Given the description of an element on the screen output the (x, y) to click on. 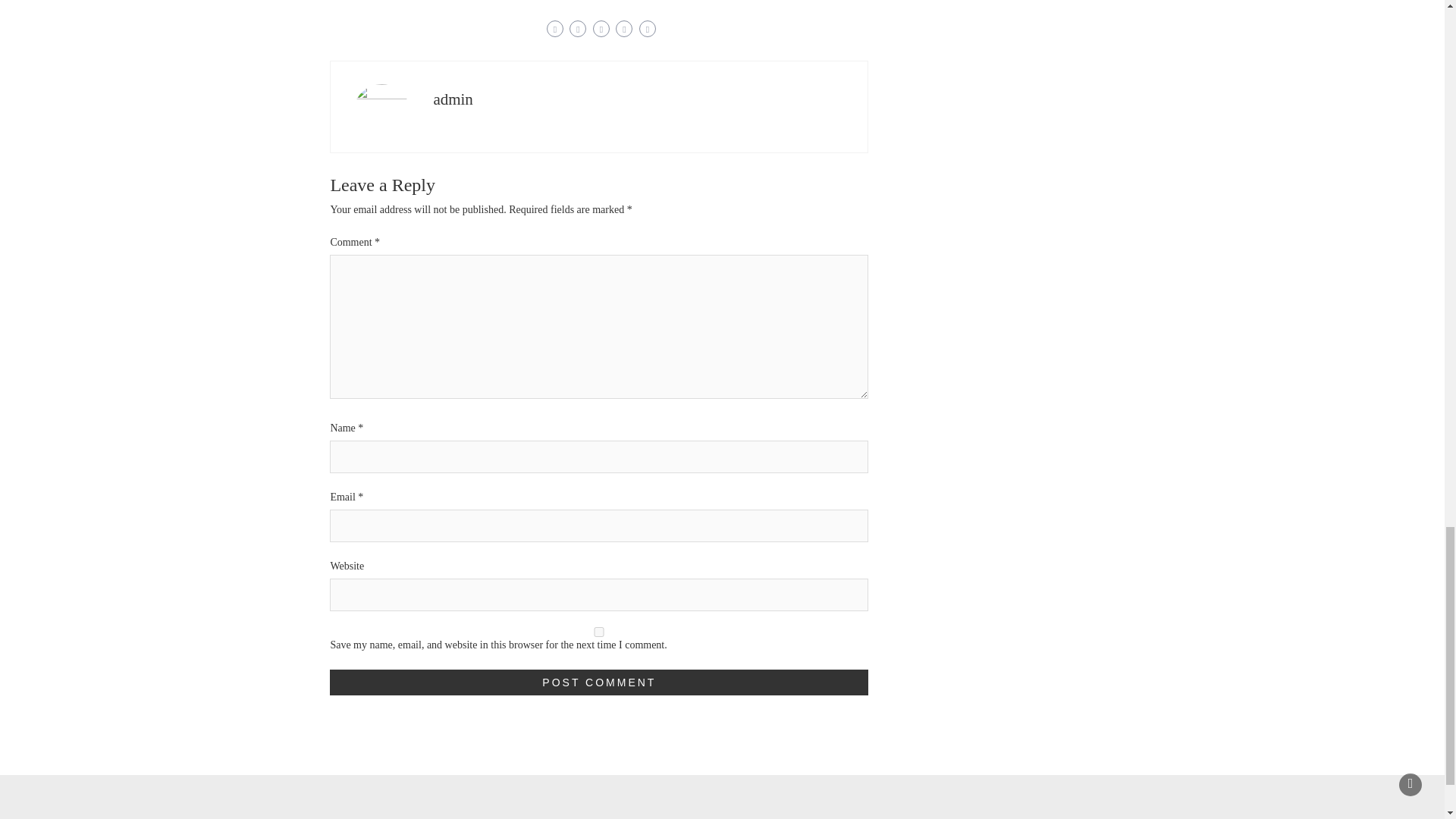
Post Comment (598, 681)
admin (452, 98)
yes (598, 631)
Post Comment (598, 681)
